Given the description of an element on the screen output the (x, y) to click on. 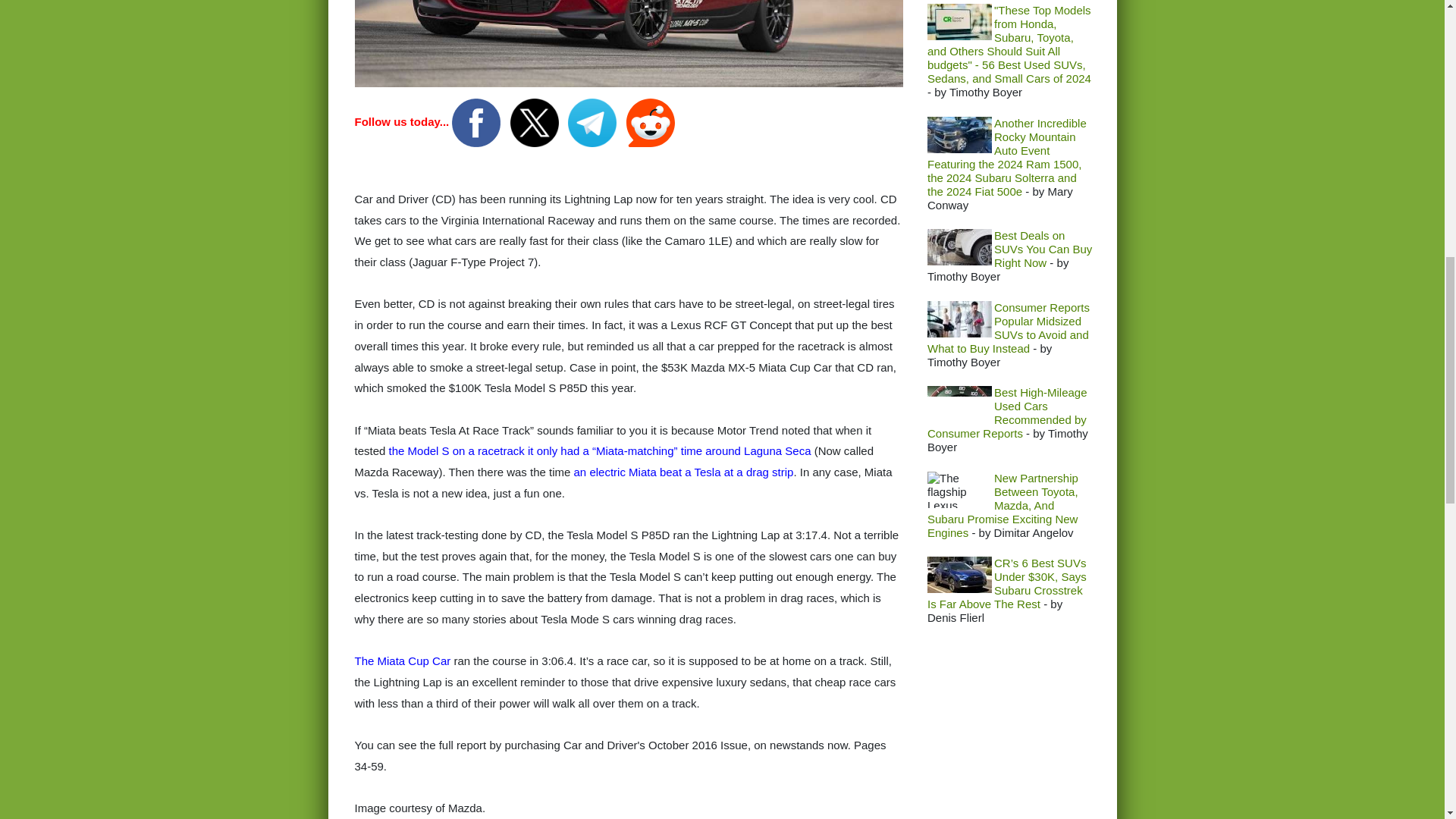
The Miata Cup Car (404, 660)
Join us on Reddit! (650, 121)
Join us on Telegram! (593, 121)
an electric Miata beat a Tesla at a drag strip (683, 472)
